Given the description of an element on the screen output the (x, y) to click on. 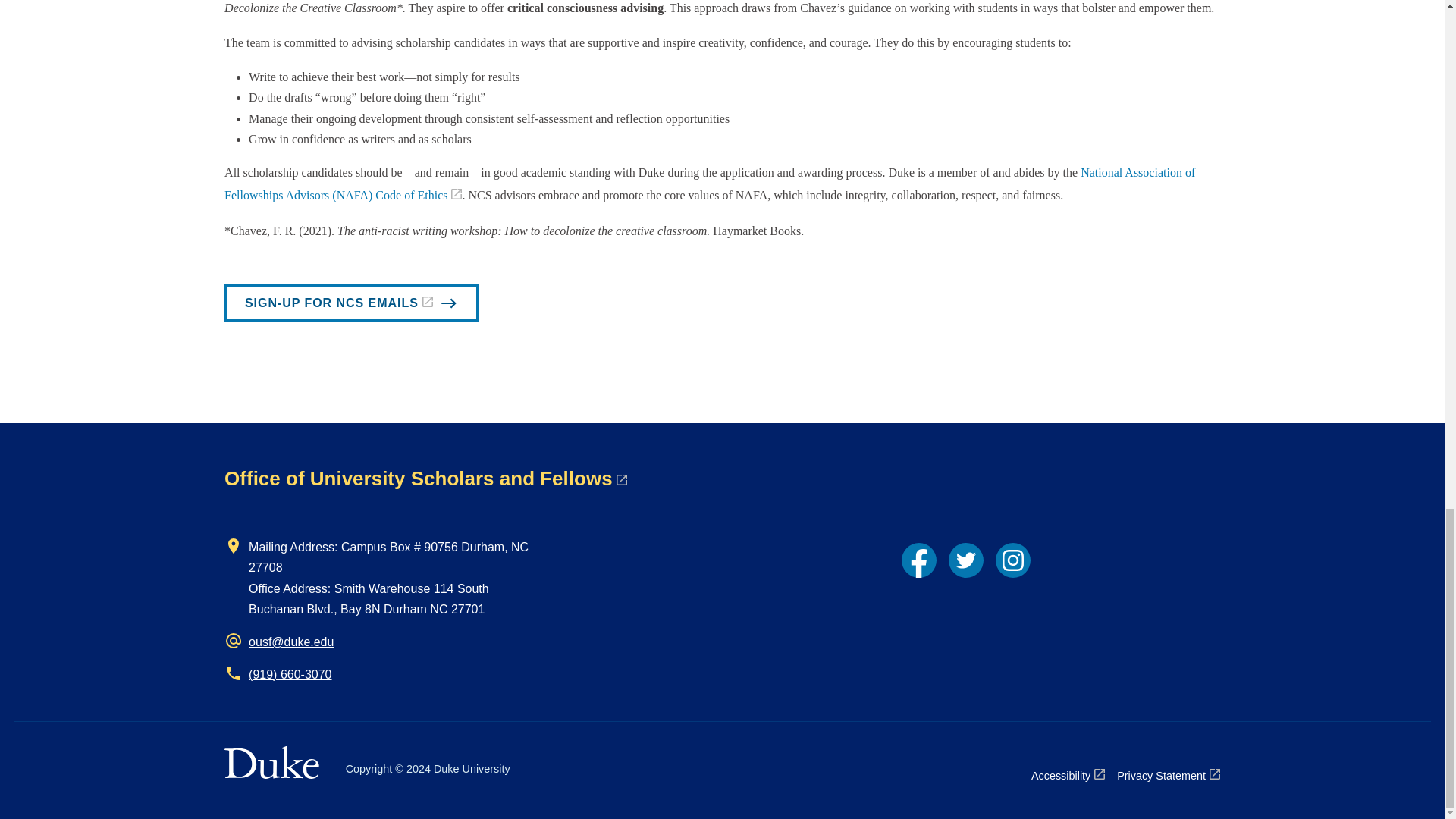
SIGN-UP FOR NCS EMAILS (351, 302)
Privacy Statement (1168, 775)
Office of University Scholars and Fellows (425, 477)
Facebook link (918, 560)
Accessibility (1067, 775)
Instagram link (1012, 560)
Twitter link (966, 560)
